Given the description of an element on the screen output the (x, y) to click on. 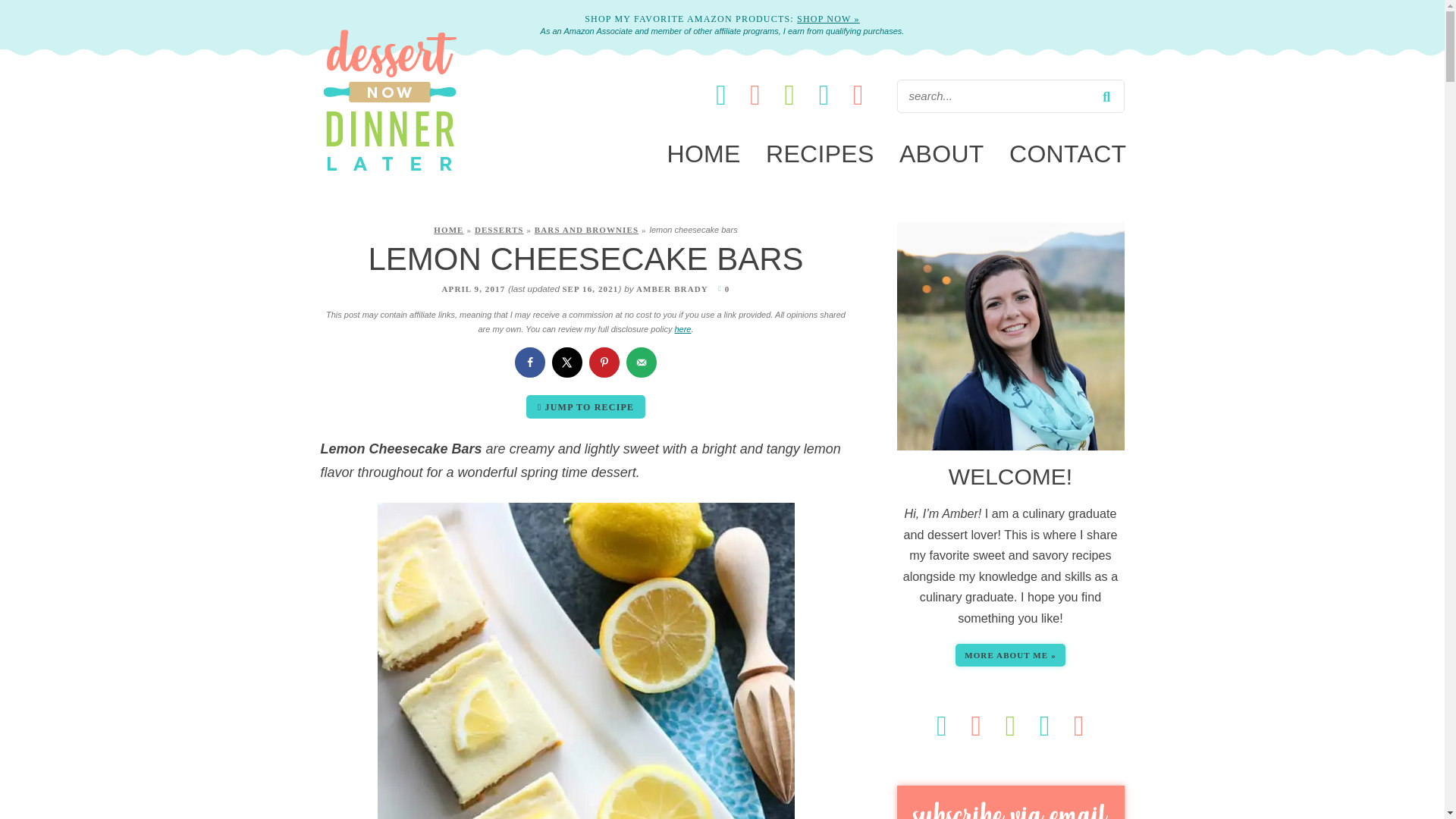
Save to Pinterest (604, 362)
Instagram (791, 94)
Pinterest (756, 94)
Facebook (721, 94)
Share on Facebook (529, 362)
Dessert Now Dinner Later (389, 172)
Share on X (566, 362)
Send over email (641, 362)
RSS (858, 94)
Twitter (825, 94)
